Given the description of an element on the screen output the (x, y) to click on. 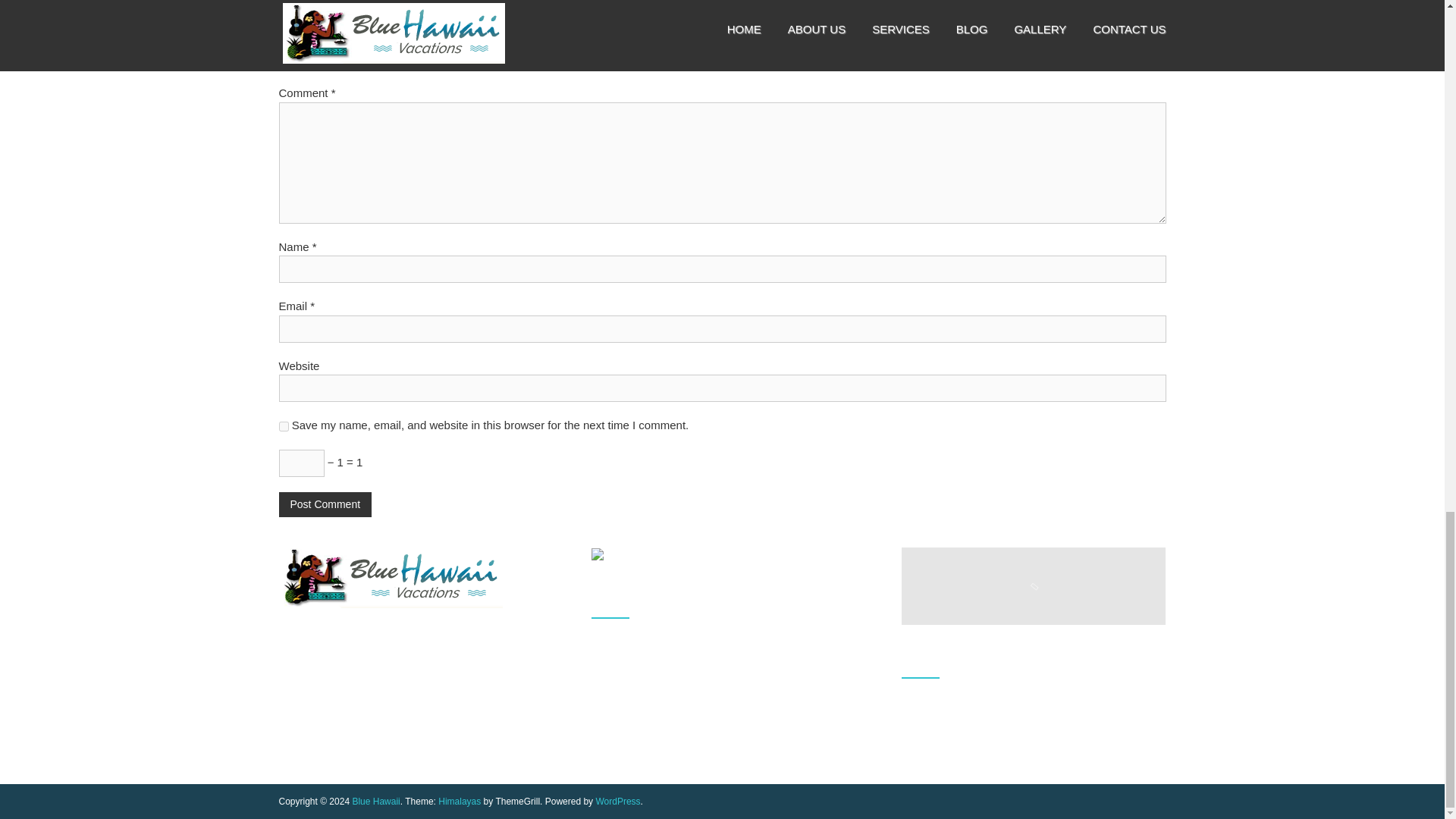
Himalayas (459, 801)
Blue Hawaii (375, 801)
Post Comment (325, 504)
Blue Hawaii (375, 801)
yes (283, 426)
WordPress (617, 801)
WordPress (617, 801)
Post Comment (325, 504)
Himalayas (459, 801)
